Given the description of an element on the screen output the (x, y) to click on. 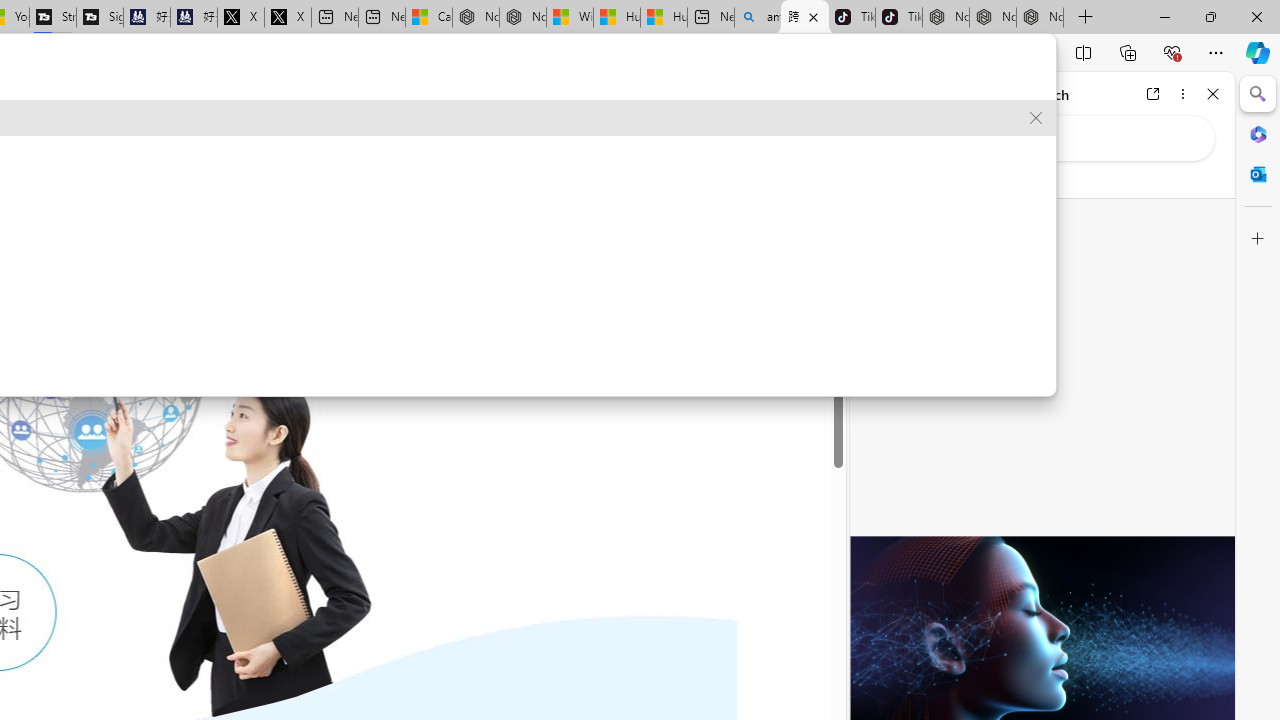
This site scope (936, 180)
Search the web (1051, 137)
Forward (906, 93)
Web scope (882, 180)
